Given the description of an element on the screen output the (x, y) to click on. 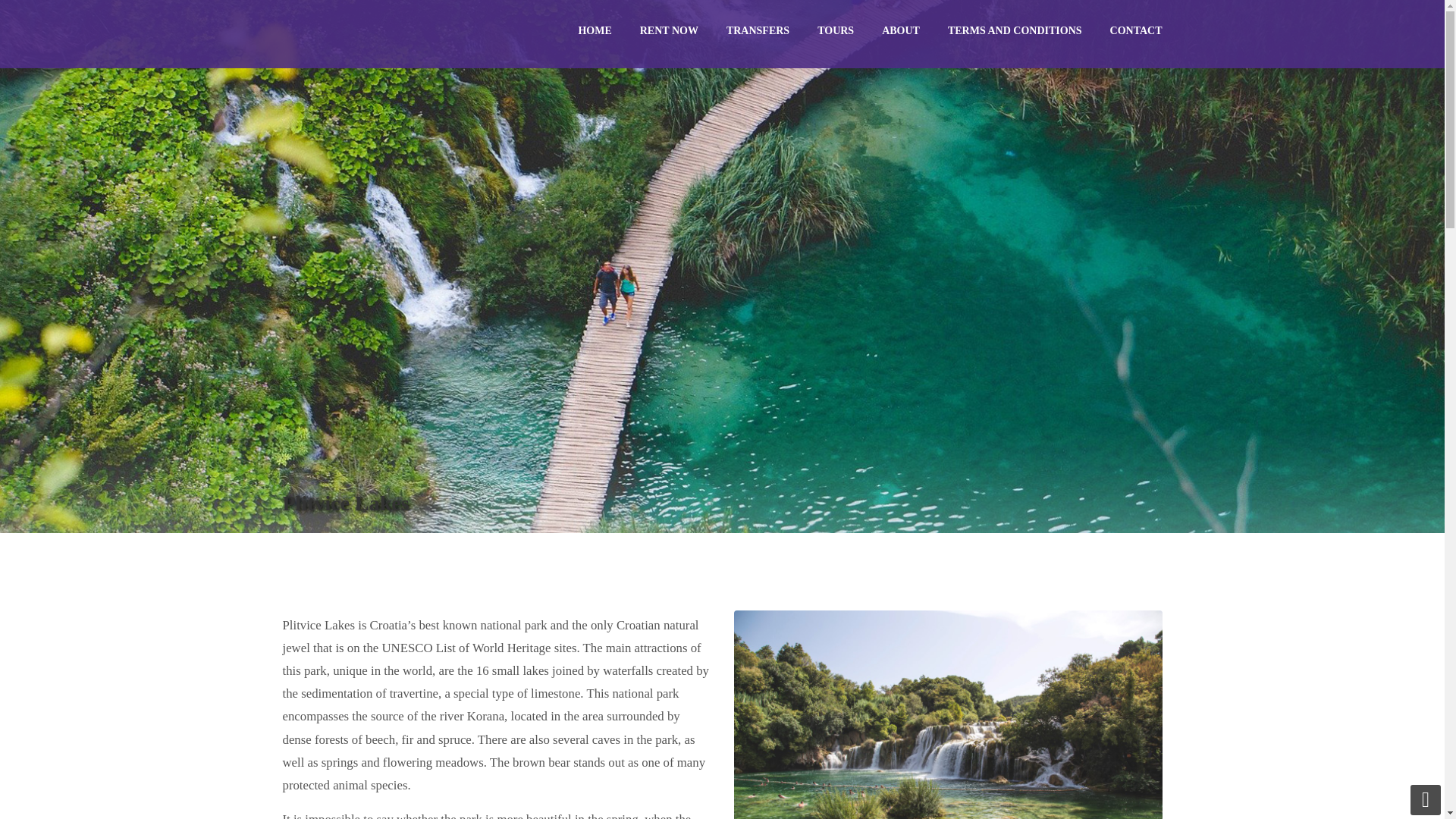
ABOUT (900, 30)
Abel Rent a Car (339, 34)
Abel Rent a Car (339, 34)
TRANSFERS (758, 30)
CONTACT (1135, 30)
RENT NOW (668, 30)
Plitvice - Abel rent a car - Excursions (947, 714)
TERMS AND CONDITIONS (1015, 30)
TOURS (835, 30)
HOME (594, 30)
